Given the description of an element on the screen output the (x, y) to click on. 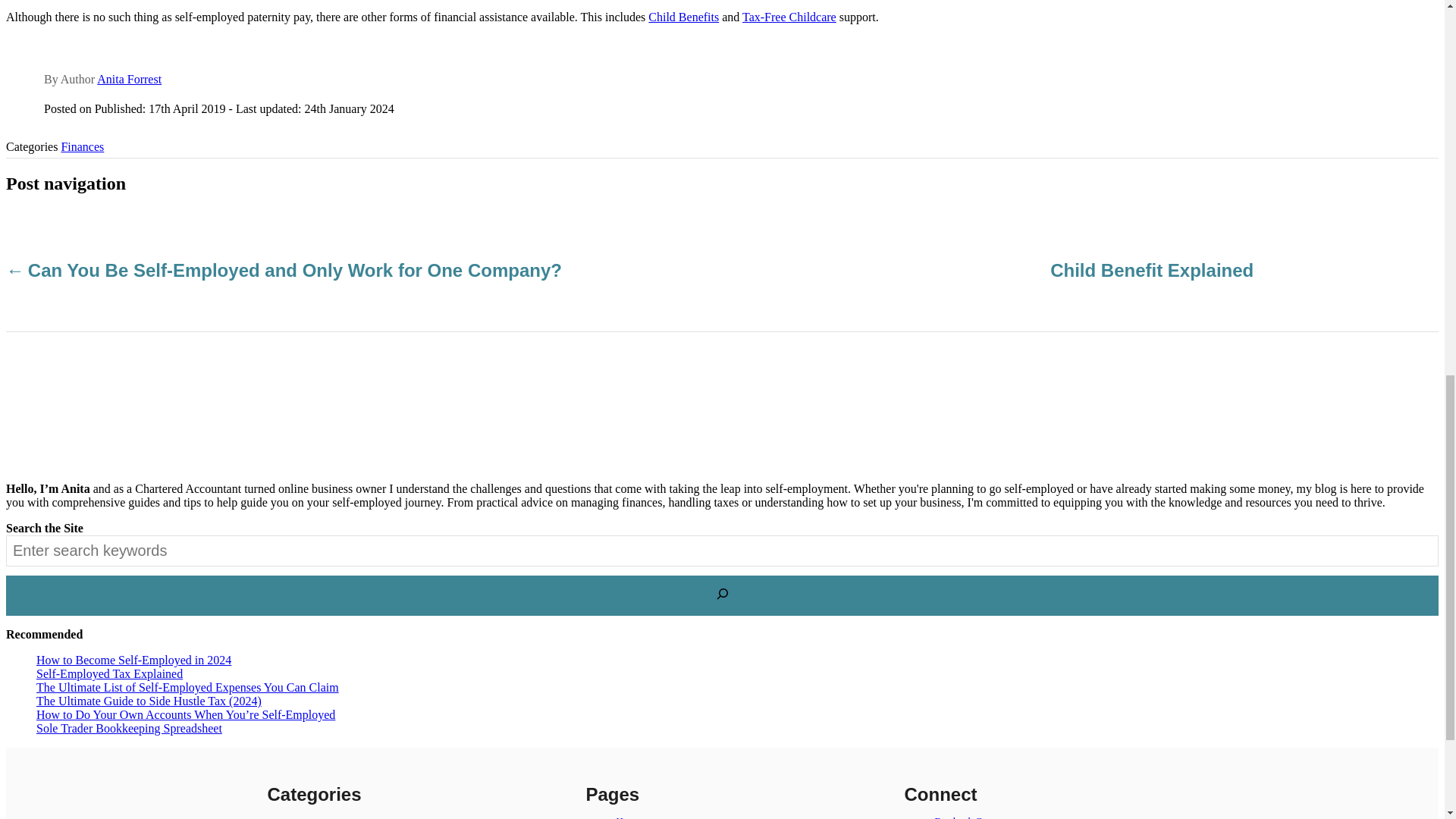
Facebook Group (967, 816)
How to Become Self-Employed in 2024 (133, 659)
Self-Employed Tax Explained (109, 673)
Tax-Free Childcare (788, 16)
Child Benefits (683, 16)
Become Self-Employed (344, 818)
Home (627, 816)
Sole Trader Bookkeeping Spreadsheet (129, 727)
Can You Be Self-Employed and Only Work for One Company? (292, 270)
Anita Forrest (129, 78)
Finances (82, 146)
The Ultimate List of Self-Employed Expenses You Can Claim (187, 686)
